Given the description of an element on the screen output the (x, y) to click on. 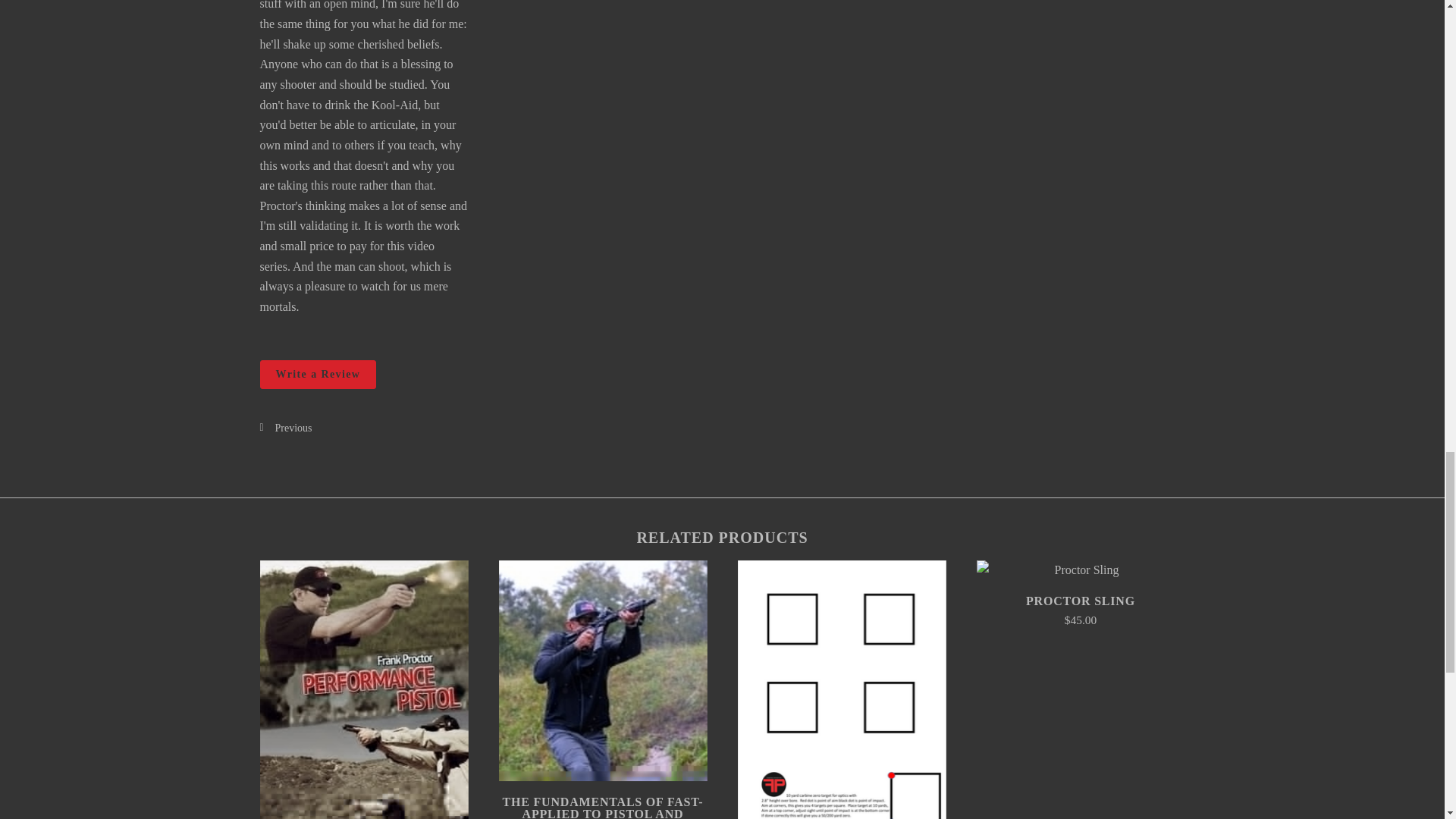
The Fundamentals of Fast- Applied to Pistol and Carbine (603, 671)
Previous (486, 427)
Write a Review (317, 374)
THE FUNDAMENTALS OF FAST- APPLIED TO PISTOL AND CARBINE (602, 807)
PROCTOR SLING (1080, 600)
Proctor Sling (1080, 570)
